Given the description of an element on the screen output the (x, y) to click on. 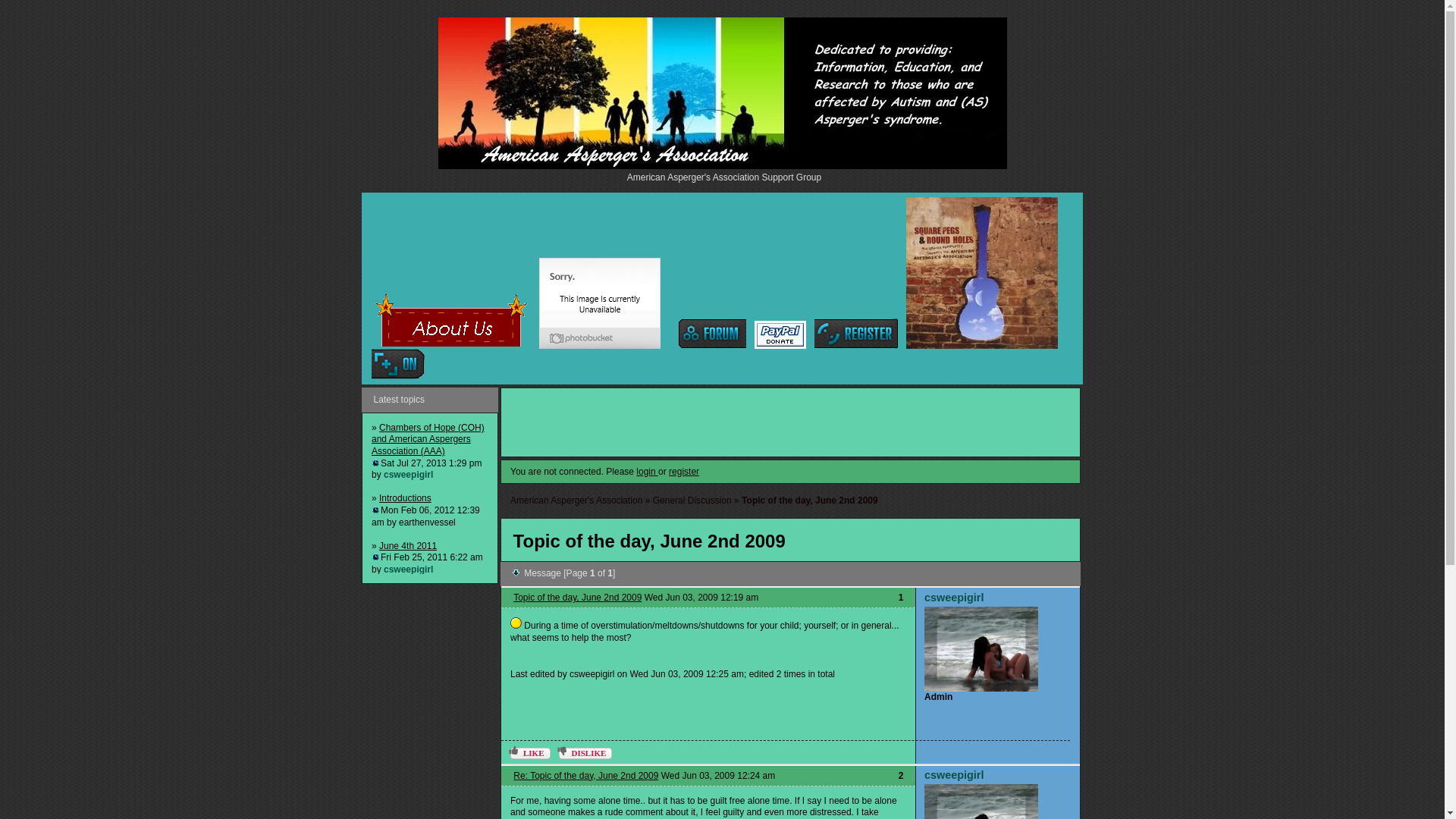
CONTACT US (599, 302)
Introductions (404, 498)
Home (711, 333)
Aspergers CD to benefit the AAA!!!! (981, 272)
Introductions (404, 498)
June 4th 2011 (407, 545)
June 4th 2011 (407, 545)
Register (855, 333)
Log in (398, 363)
